Given the description of an element on the screen output the (x, y) to click on. 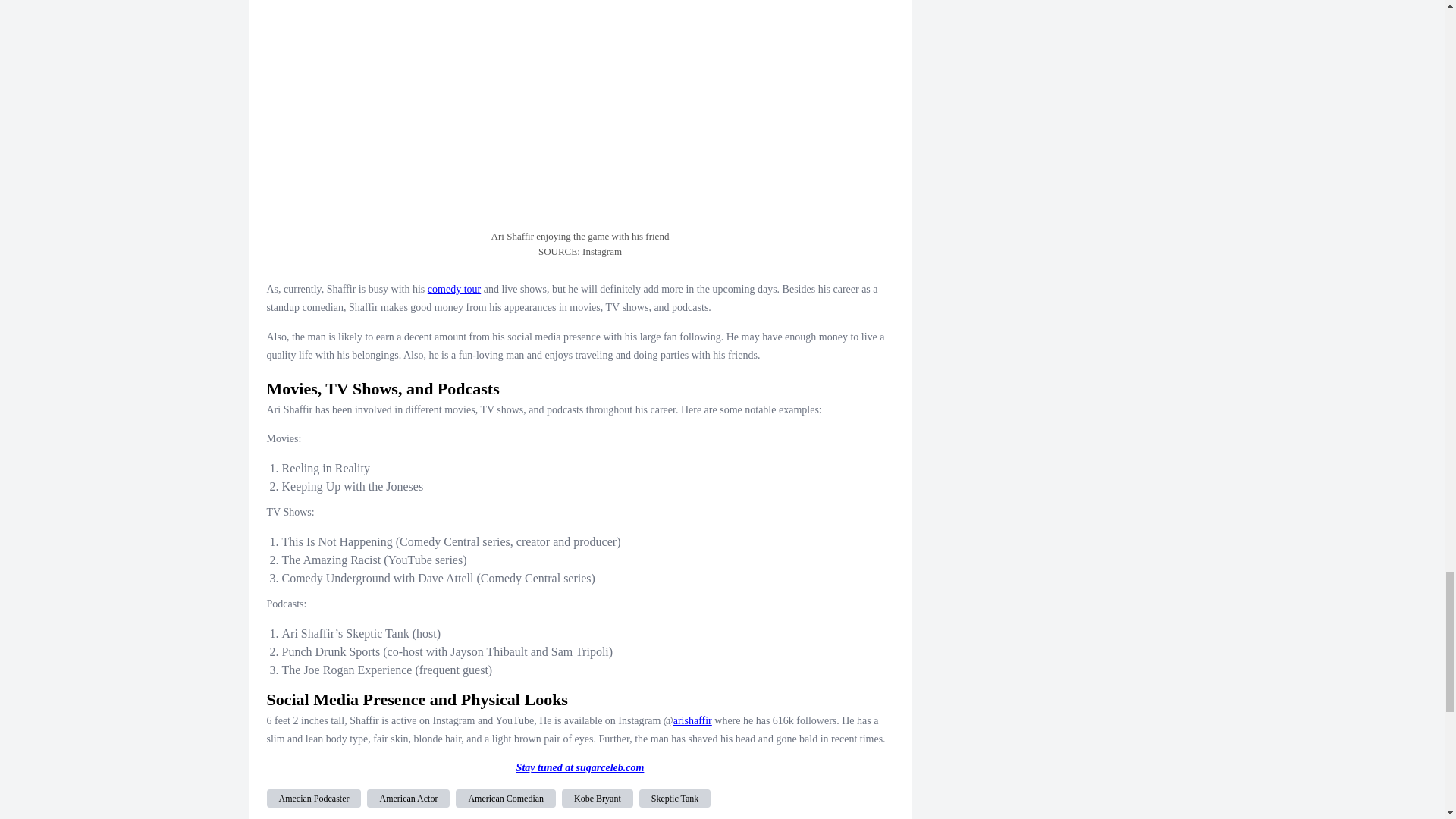
Amecian Podcaster (313, 798)
Skeptic Tank (675, 798)
arishaffir (691, 720)
American Actor (407, 798)
Kobe Bryant (597, 798)
comedy tour (454, 288)
American Comedian (505, 798)
Stay tuned at sugarceleb.com (580, 767)
